Given the description of an element on the screen output the (x, y) to click on. 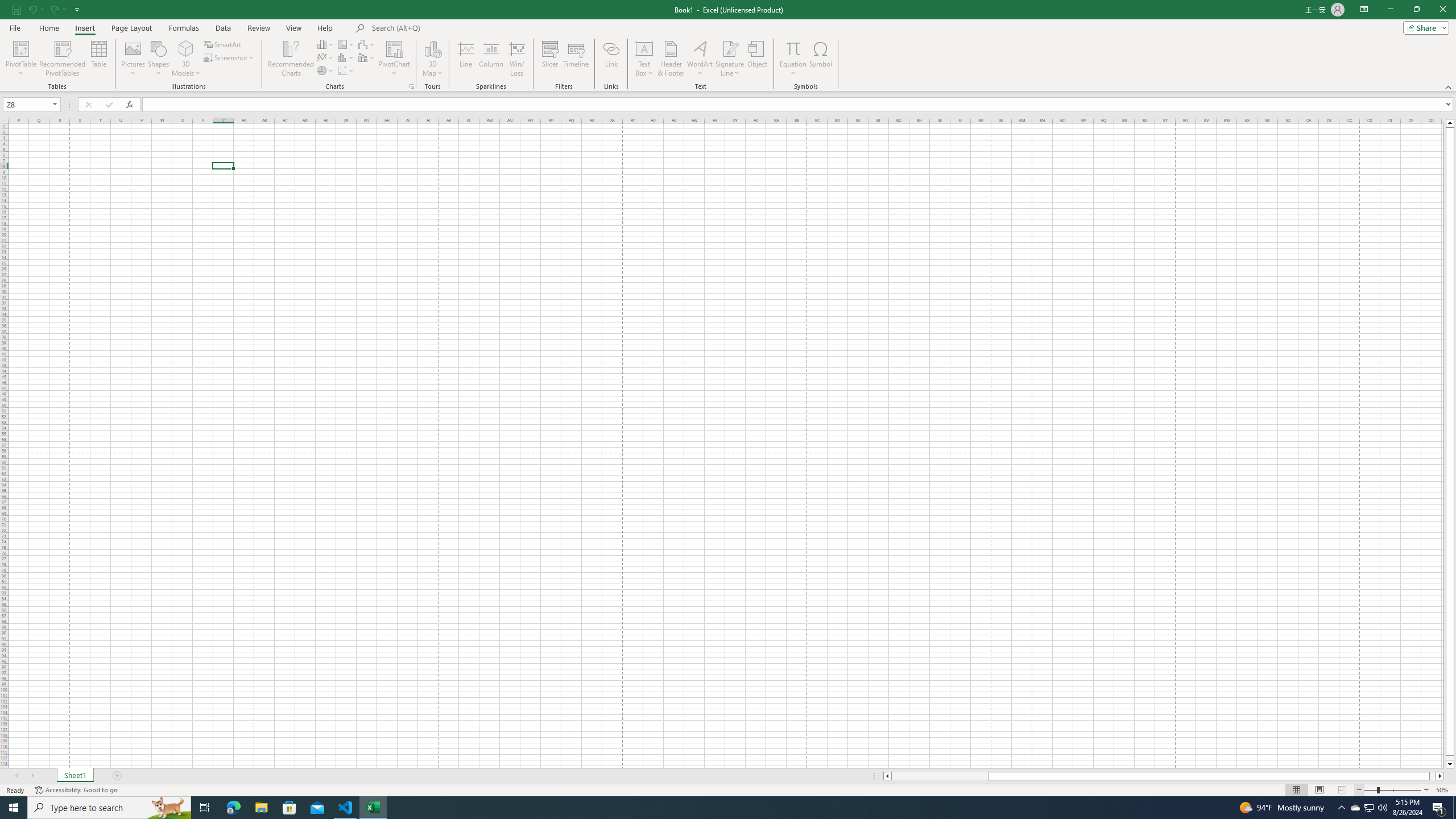
Insert Pie or Doughnut Chart (325, 69)
3D Map (432, 48)
Insert Hierarchy Chart (346, 44)
3D Models (186, 48)
PivotTable (20, 48)
